Given the description of an element on the screen output the (x, y) to click on. 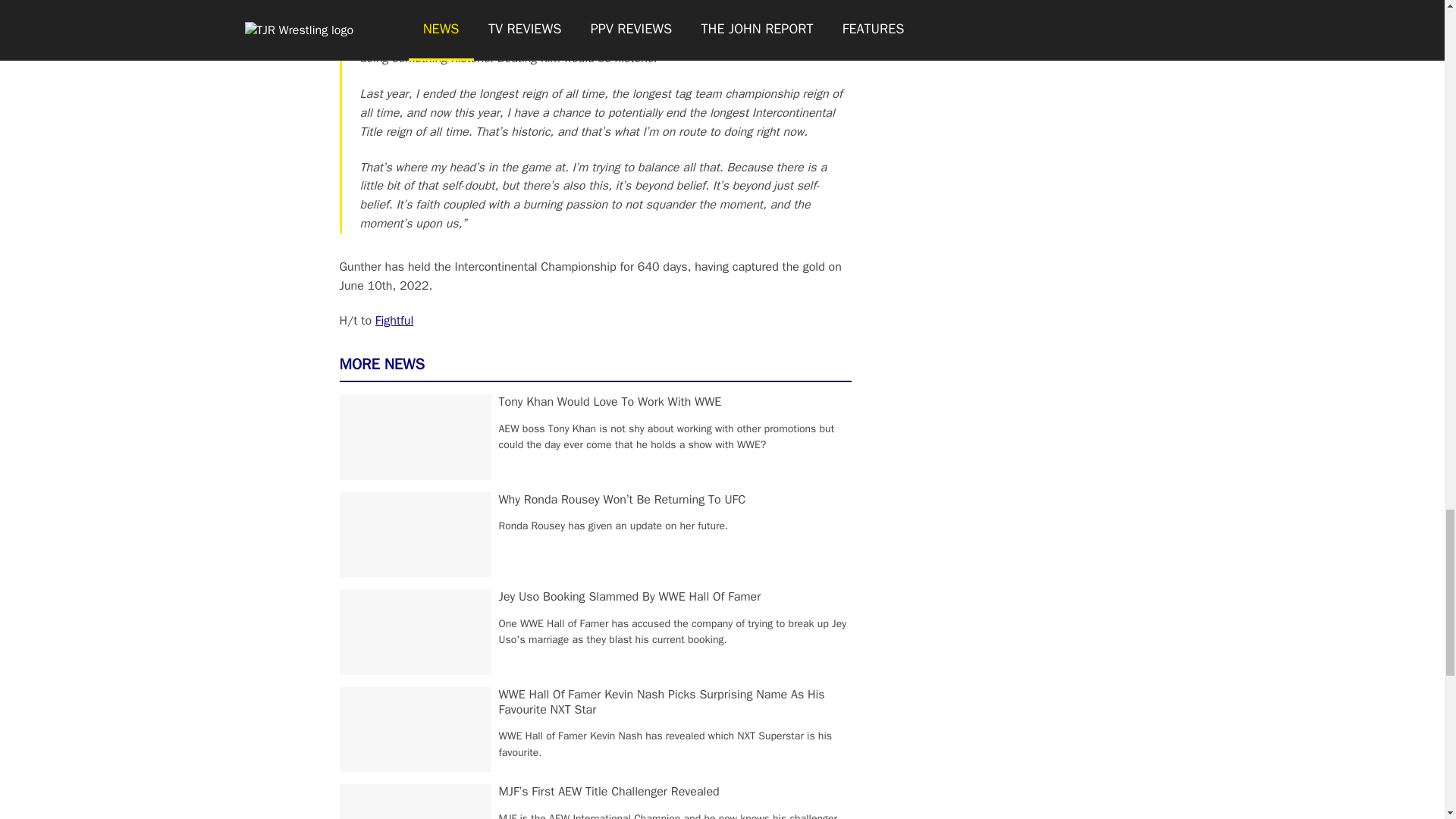
Jey Uso Booking Slammed By WWE Hall Of Famer (630, 596)
Fightful (394, 320)
Tony Khan Would Love To Work With WWE (610, 401)
